Given the description of an element on the screen output the (x, y) to click on. 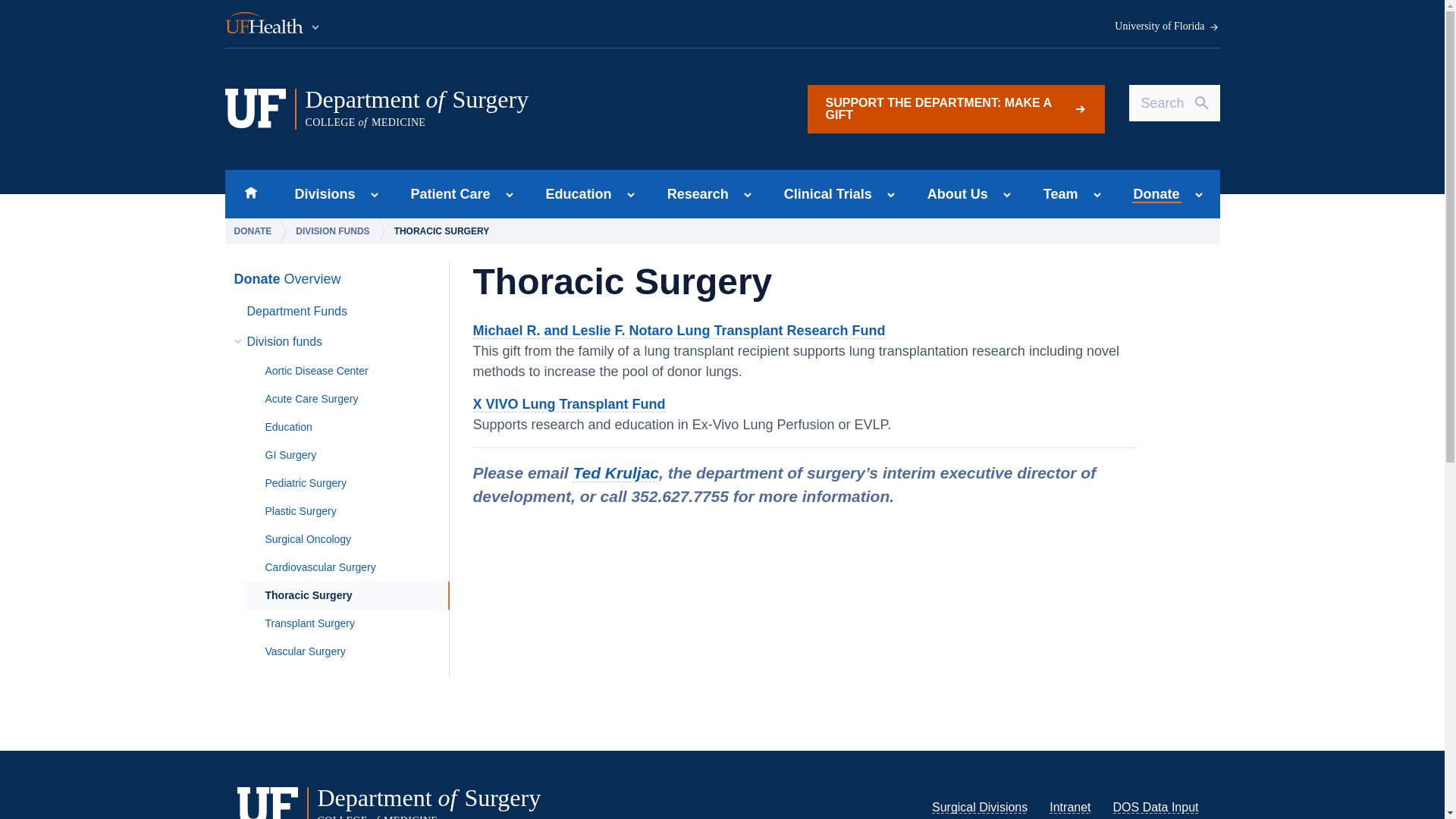
Surgical Divisions (515, 108)
Skip to main content (979, 807)
Patient Care (954, 109)
Divisions (446, 193)
Home (320, 193)
Intranet (250, 193)
Skip to main content (1069, 807)
